Given the description of an element on the screen output the (x, y) to click on. 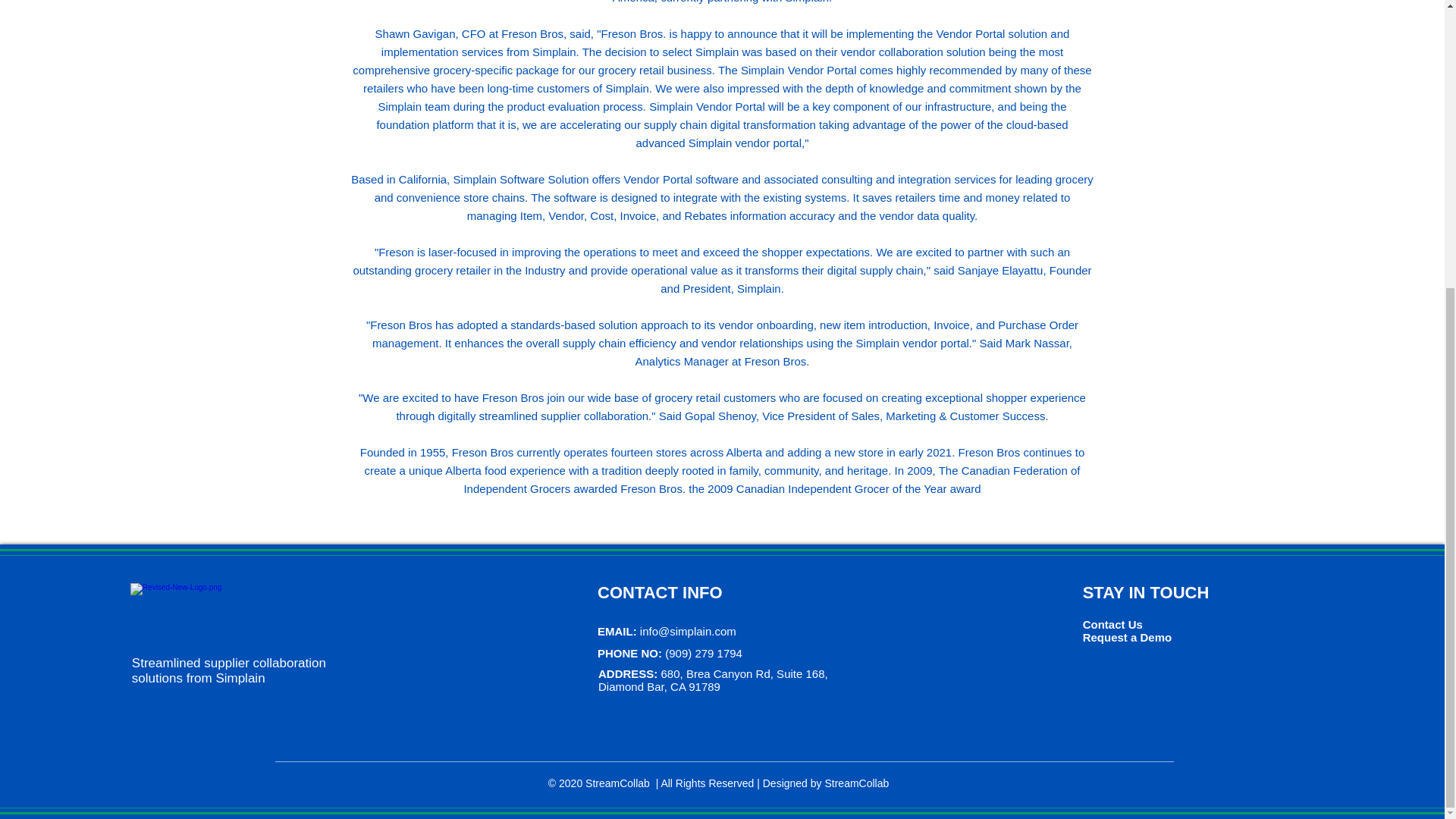
Request a Demo (1127, 636)
